Given the description of an element on the screen output the (x, y) to click on. 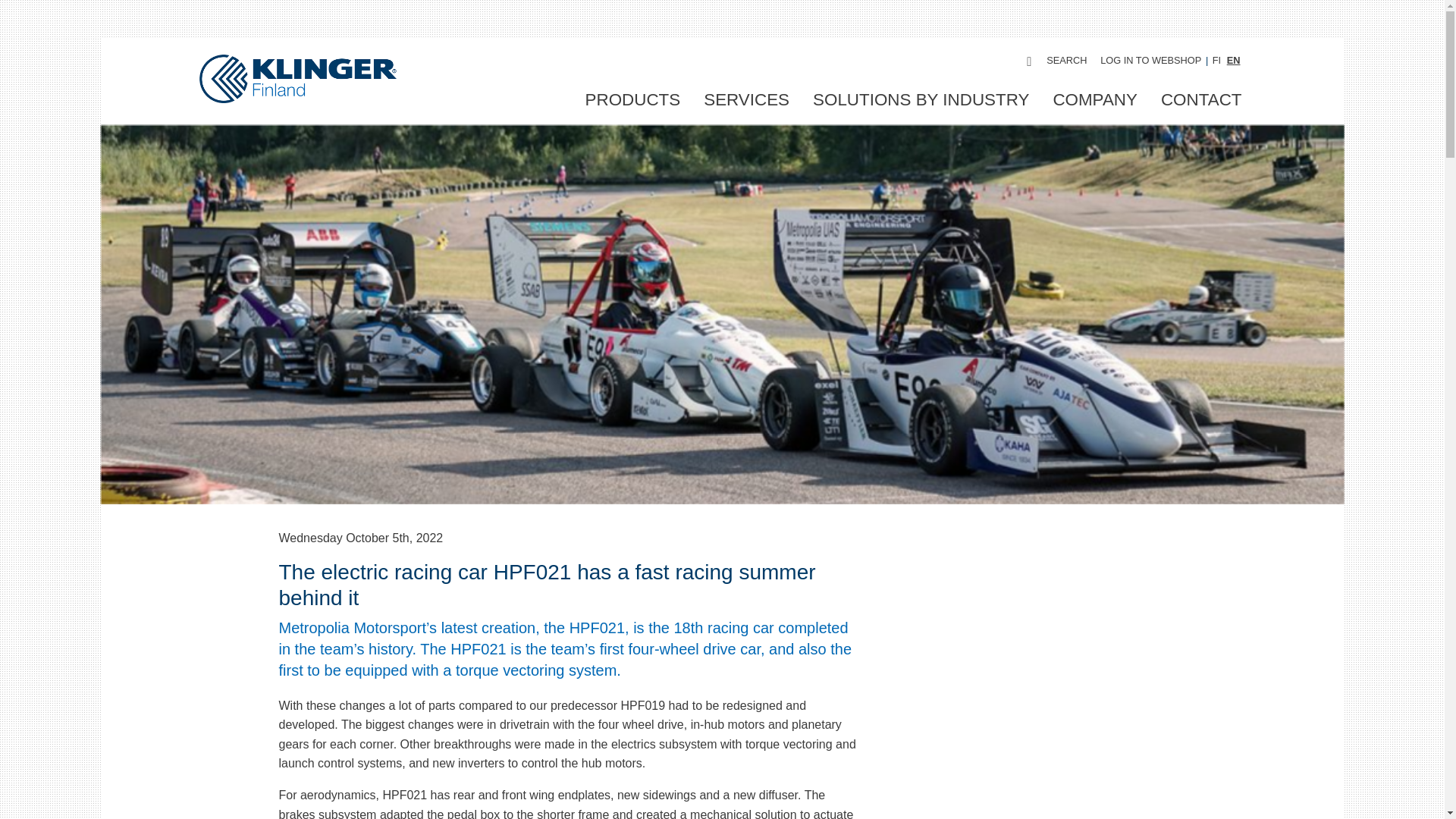
LOG IN TO WEBSHOP (1150, 60)
PRODUCTS (633, 100)
SEARCH (1056, 60)
EN (1233, 60)
